Given the description of an element on the screen output the (x, y) to click on. 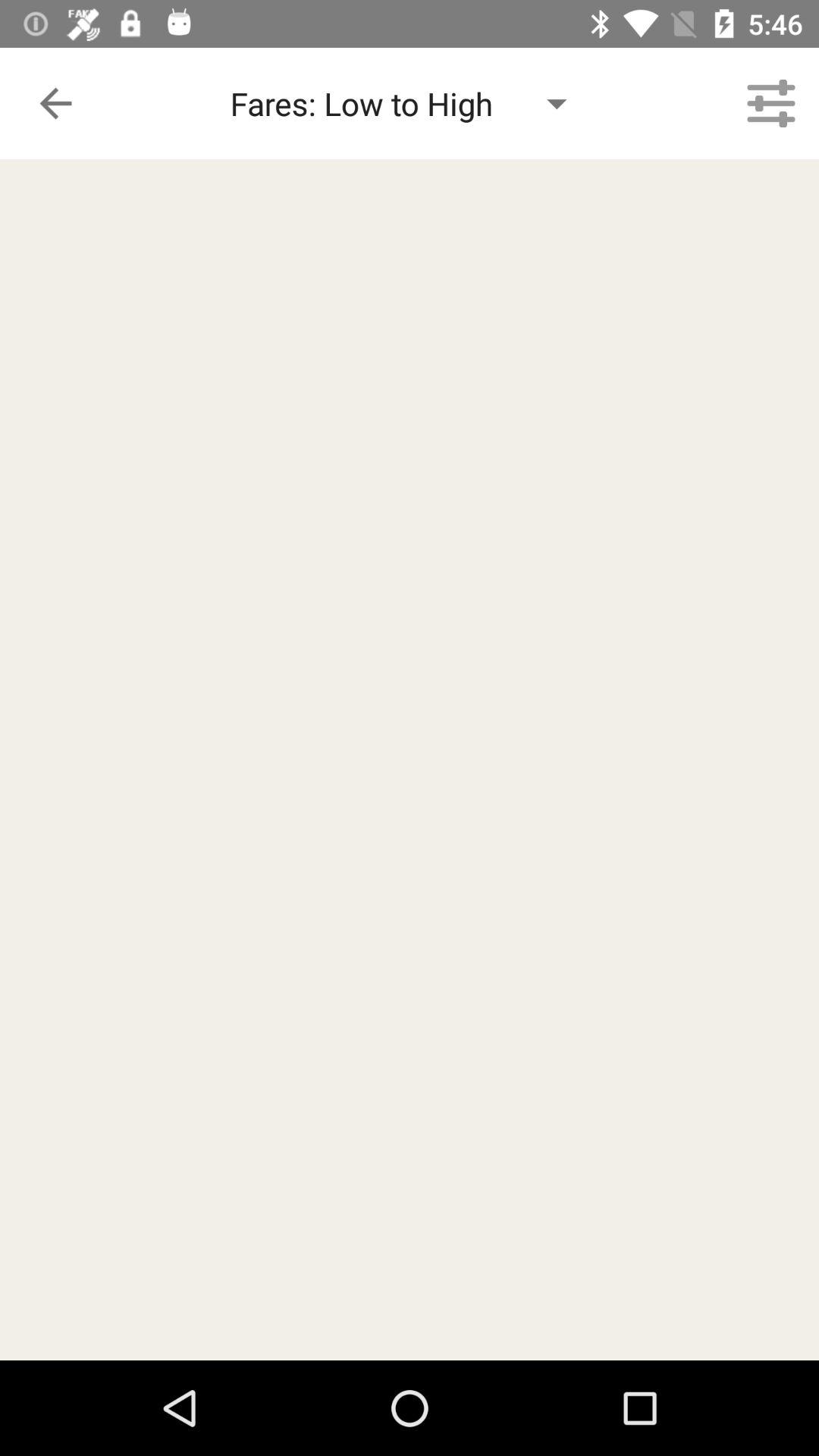
turn off the item next to the fares low to icon (55, 103)
